Given the description of an element on the screen output the (x, y) to click on. 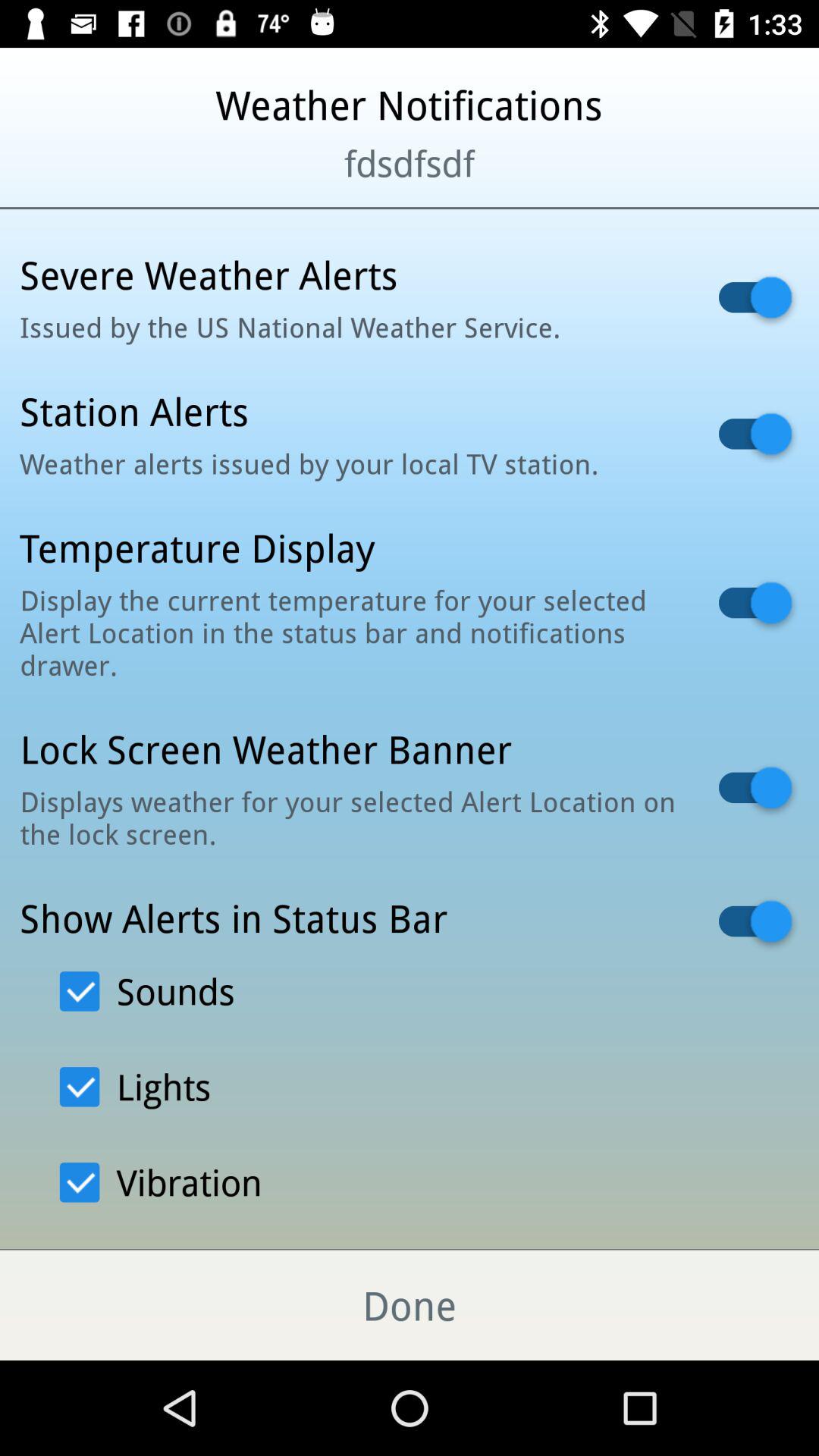
select displays weather for (349, 817)
